Given the description of an element on the screen output the (x, y) to click on. 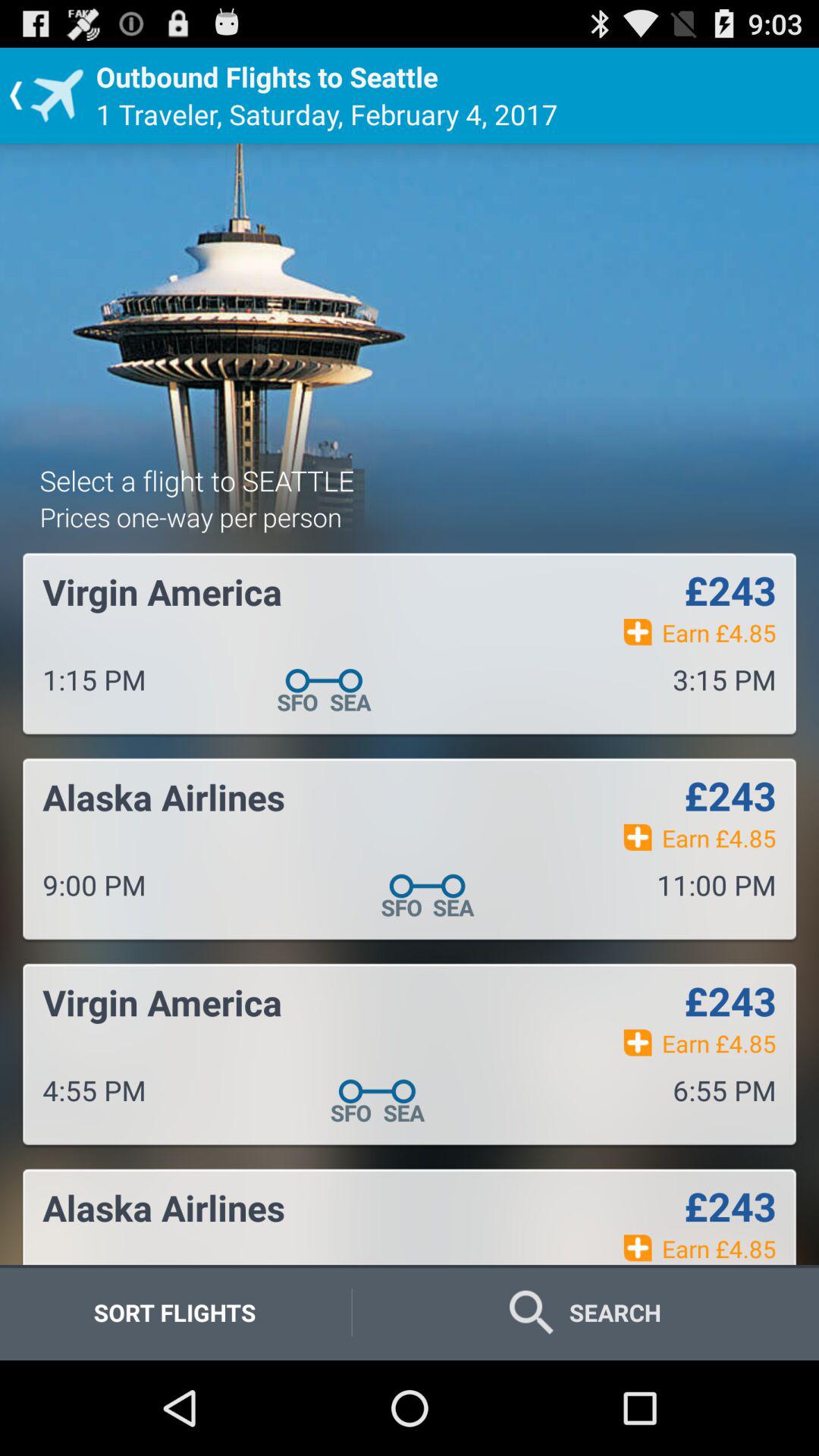
turn on icon below the select a flight (190, 516)
